Given the description of an element on the screen output the (x, y) to click on. 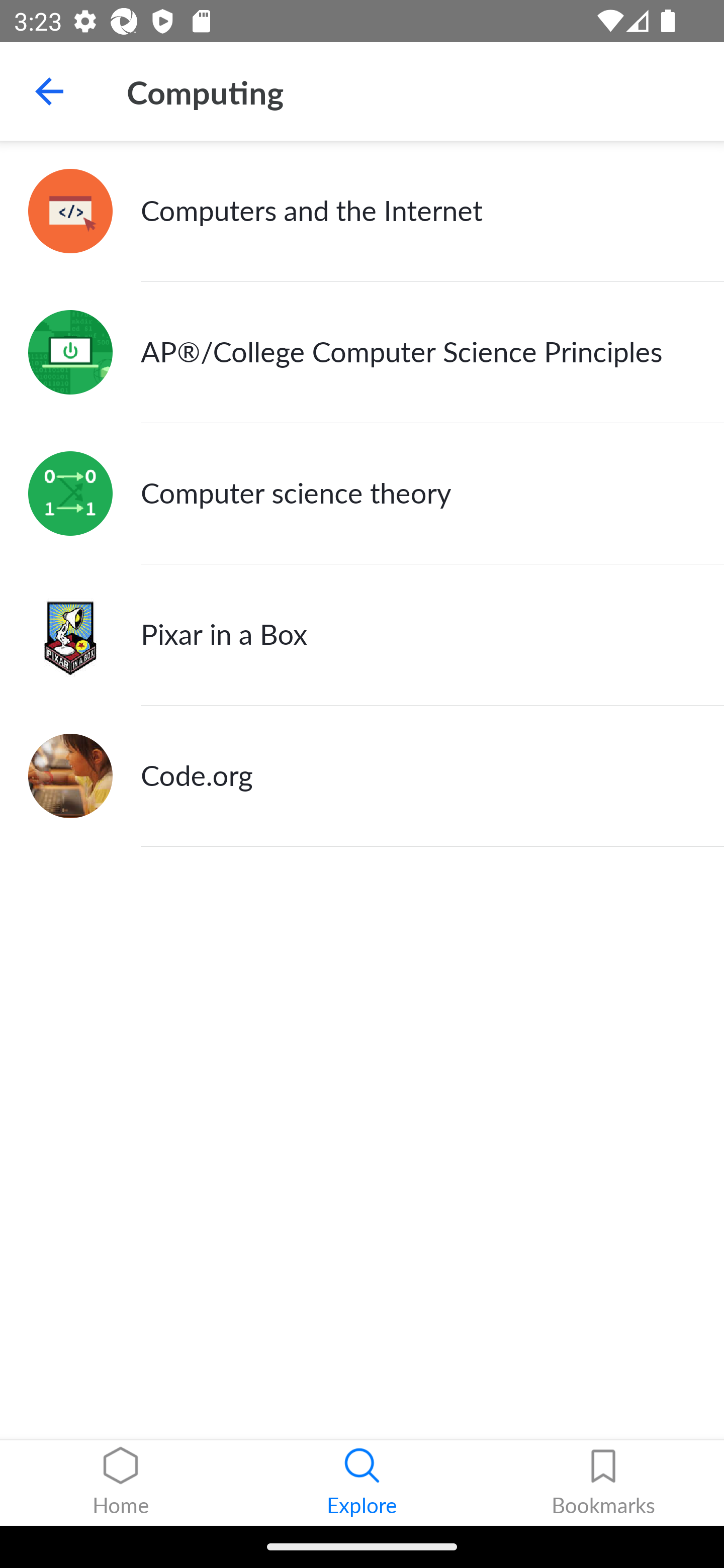
Navigate up (49, 91)
Computers and the Internet (362, 211)
AP®︎/College Computer Science Principles (362, 352)
Computer science theory (362, 493)
Pixar in a Box (362, 634)
Code.org (362, 775)
Home (120, 1482)
Explore (361, 1482)
Bookmarks (603, 1482)
